Given the description of an element on the screen output the (x, y) to click on. 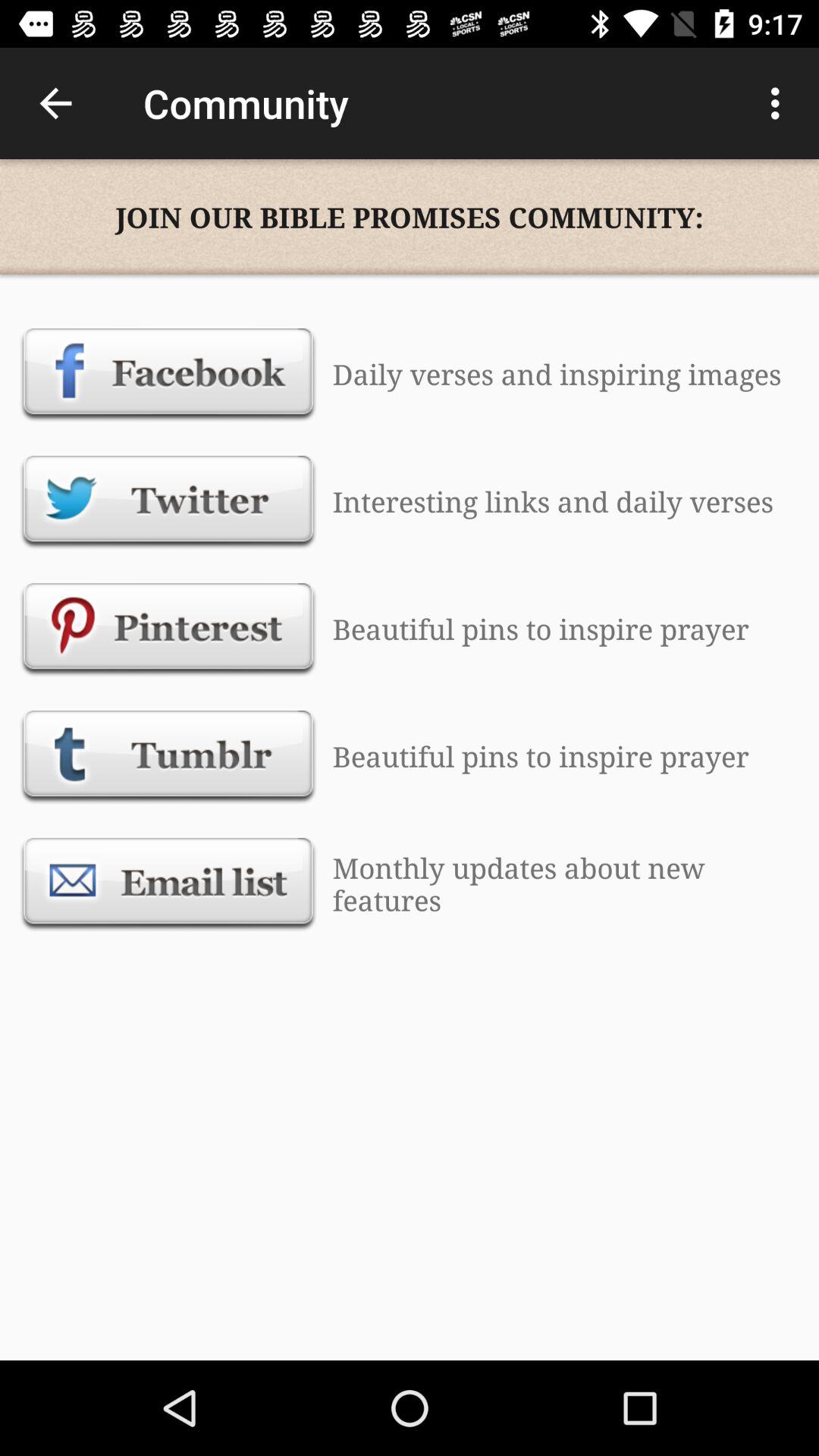
launch the icon to the left of beautiful pins to item (167, 628)
